Given the description of an element on the screen output the (x, y) to click on. 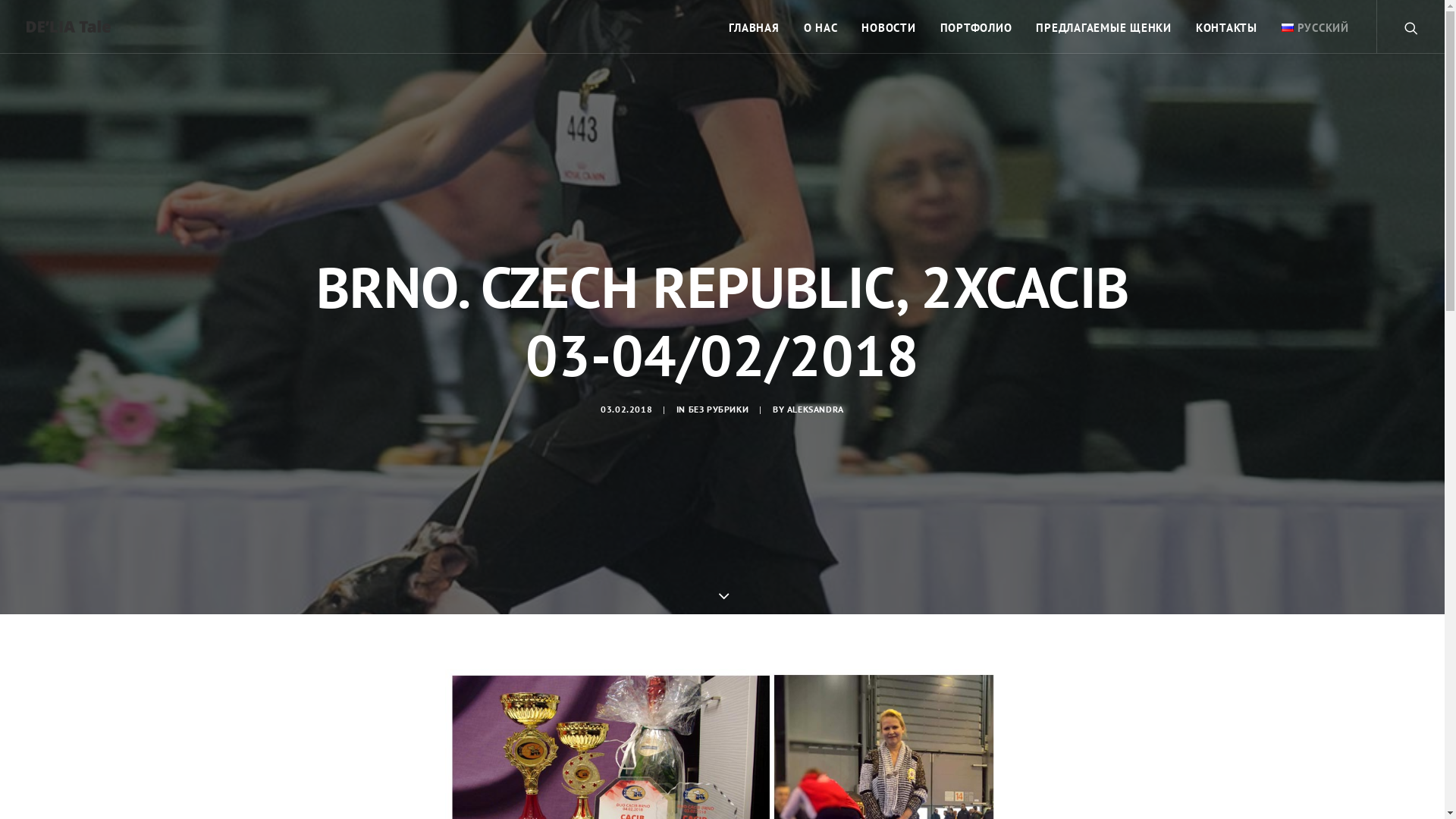
ALEKSANDRA Element type: text (815, 408)
